Given the description of an element on the screen output the (x, y) to click on. 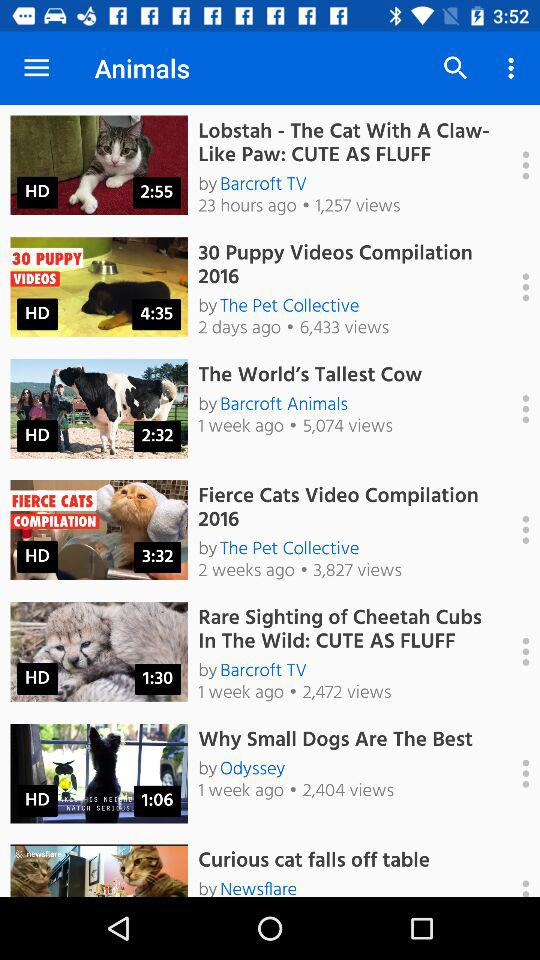
open video settings and info panel (515, 870)
